Given the description of an element on the screen output the (x, y) to click on. 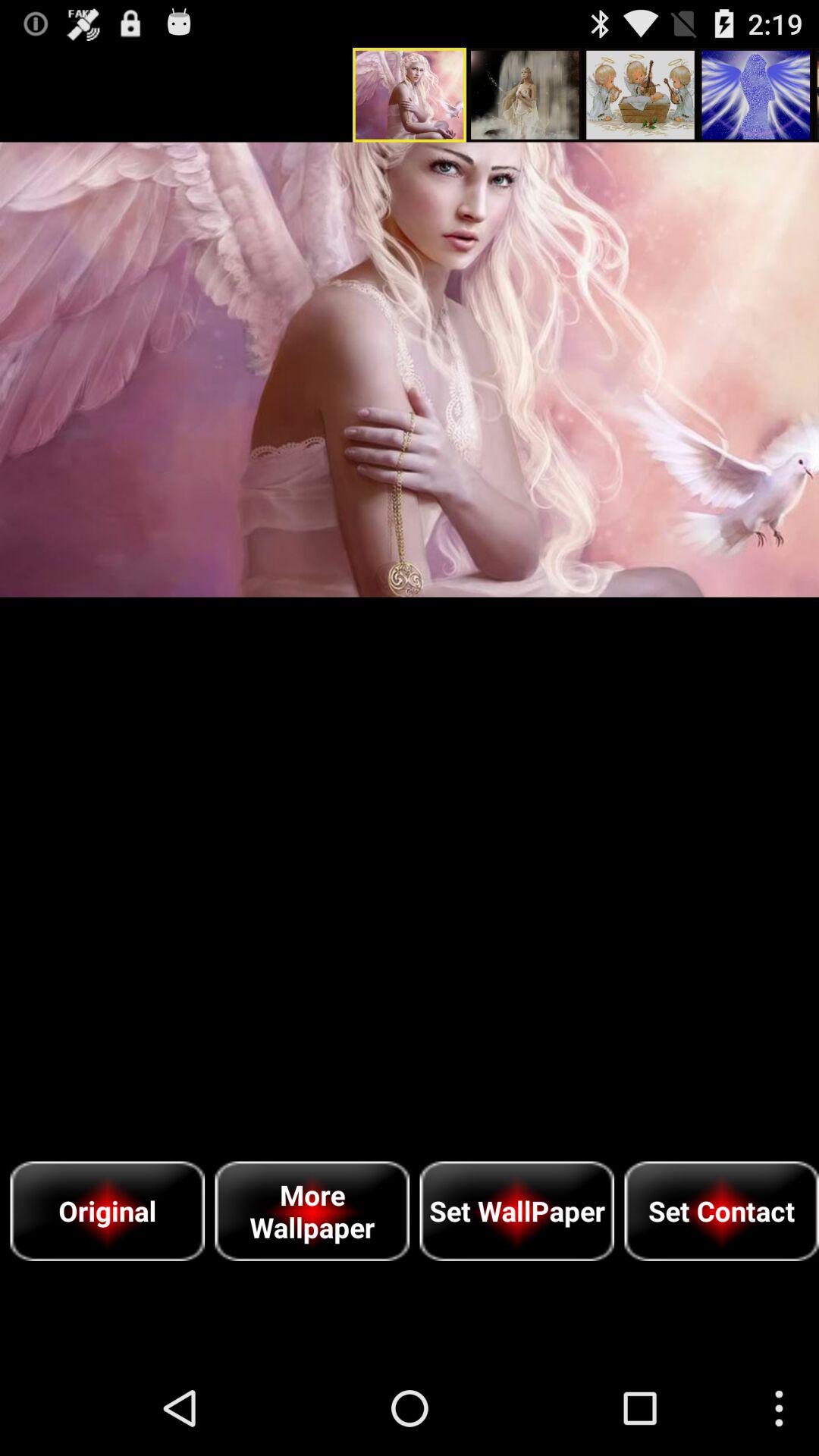
turn off more wallpaper (311, 1210)
